Given the description of an element on the screen output the (x, y) to click on. 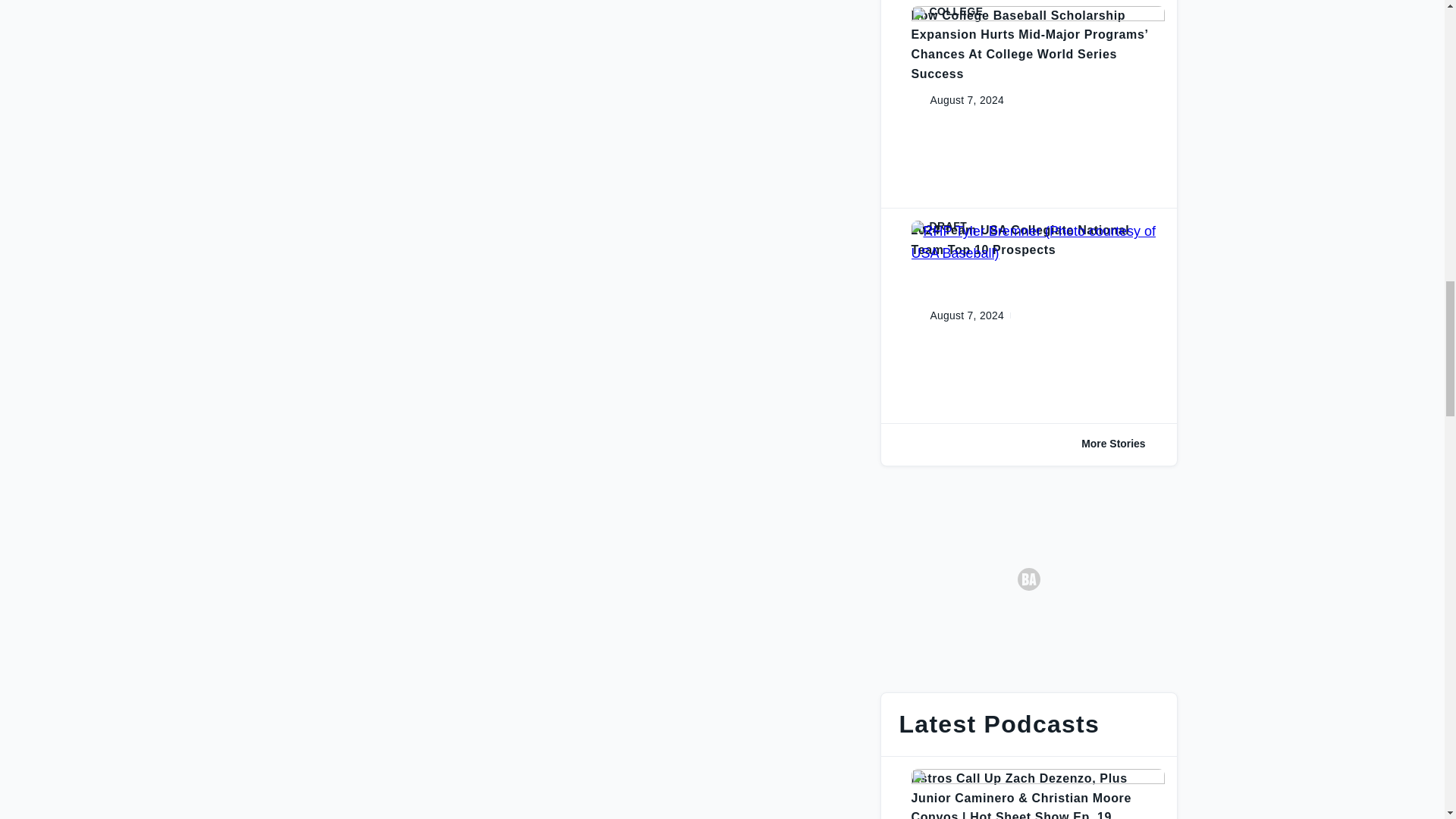
Post category (1037, 11)
Post date (954, 100)
Post date (954, 315)
Post category (1037, 225)
